Given the description of an element on the screen output the (x, y) to click on. 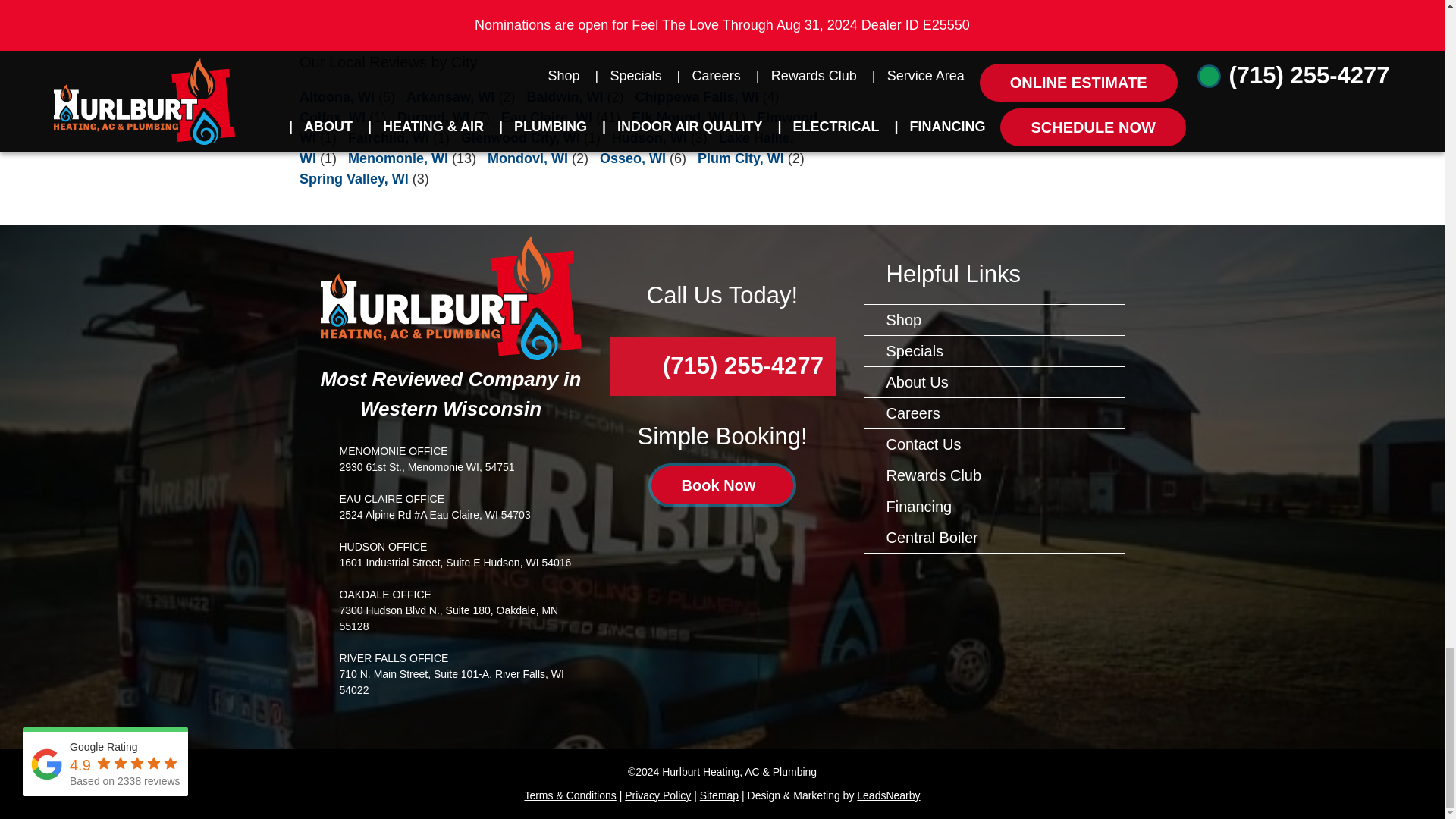
Book Now (721, 485)
